Given the description of an element on the screen output the (x, y) to click on. 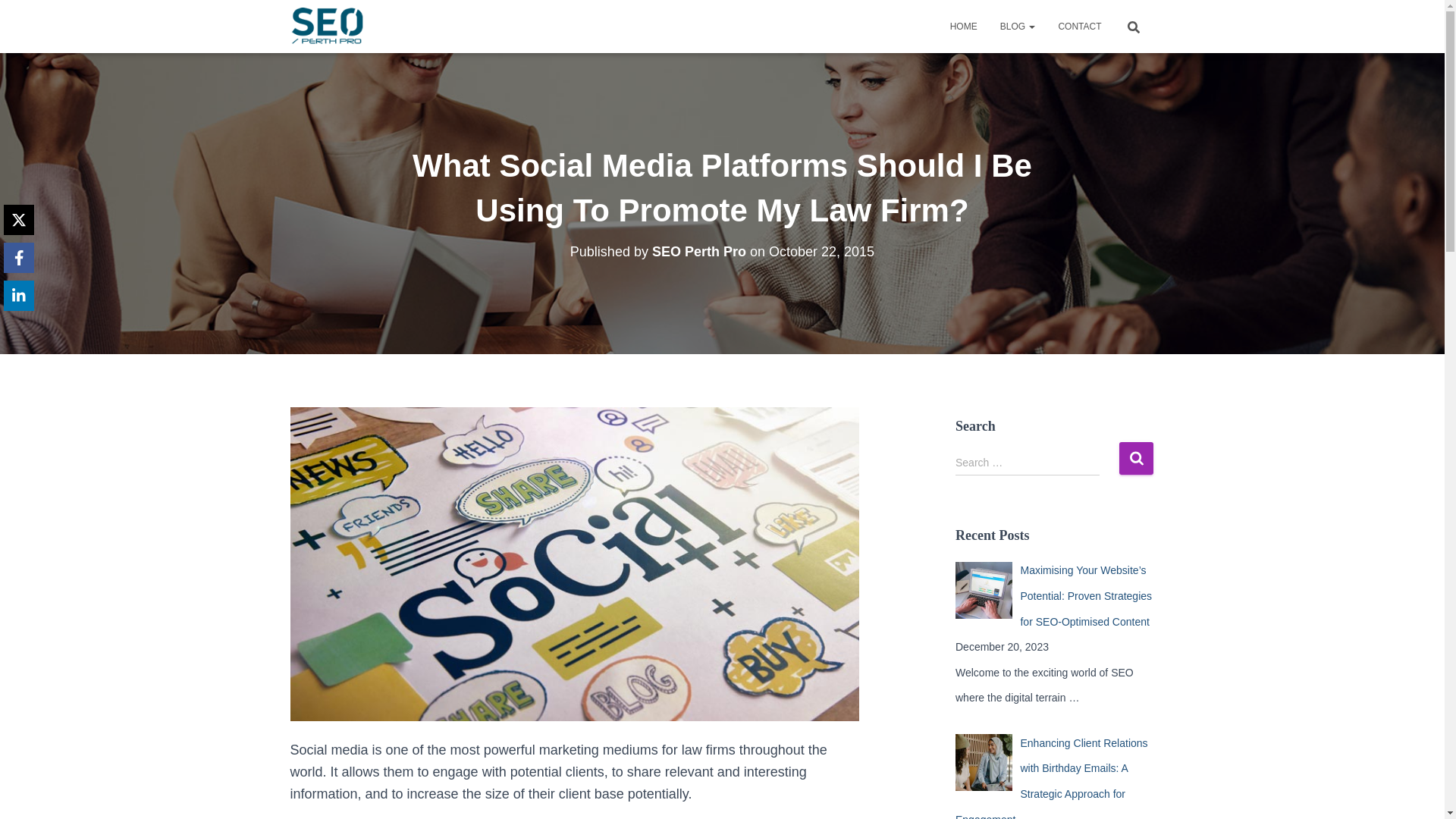
Contact (1079, 26)
Search (1136, 458)
Search (1136, 458)
CONTACT (1079, 26)
HOME (963, 26)
Home (963, 26)
BLOG (1017, 26)
Search (1136, 458)
SEO Perth Pro (327, 26)
Blog (1017, 26)
SEO Perth Pro (698, 251)
